Given the description of an element on the screen output the (x, y) to click on. 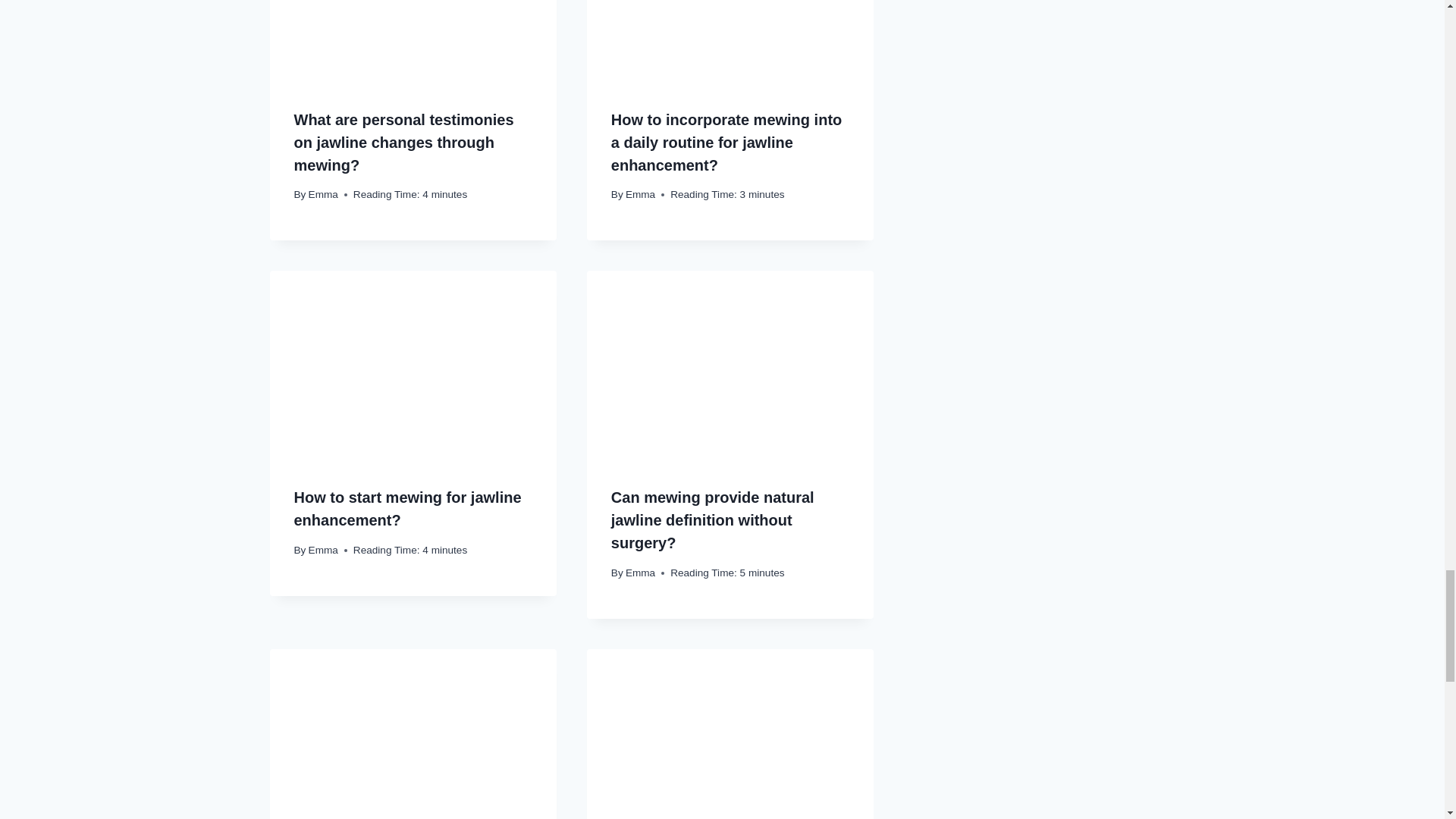
How to start mewing for jawline enhancement? (407, 508)
Emma (640, 194)
Emma (322, 194)
